Given the description of an element on the screen output the (x, y) to click on. 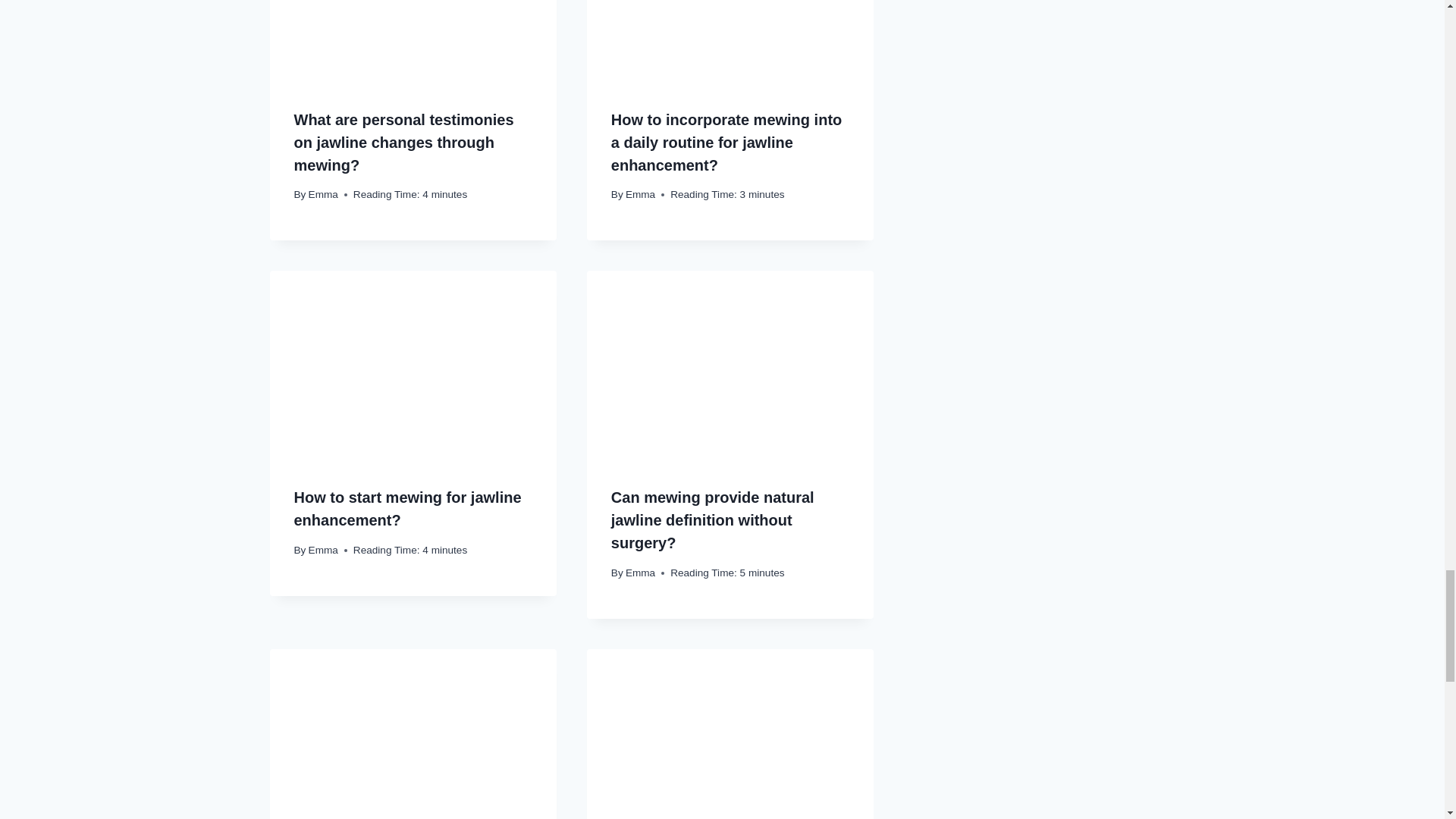
How to start mewing for jawline enhancement? (407, 508)
Emma (640, 194)
Emma (322, 194)
